Given the description of an element on the screen output the (x, y) to click on. 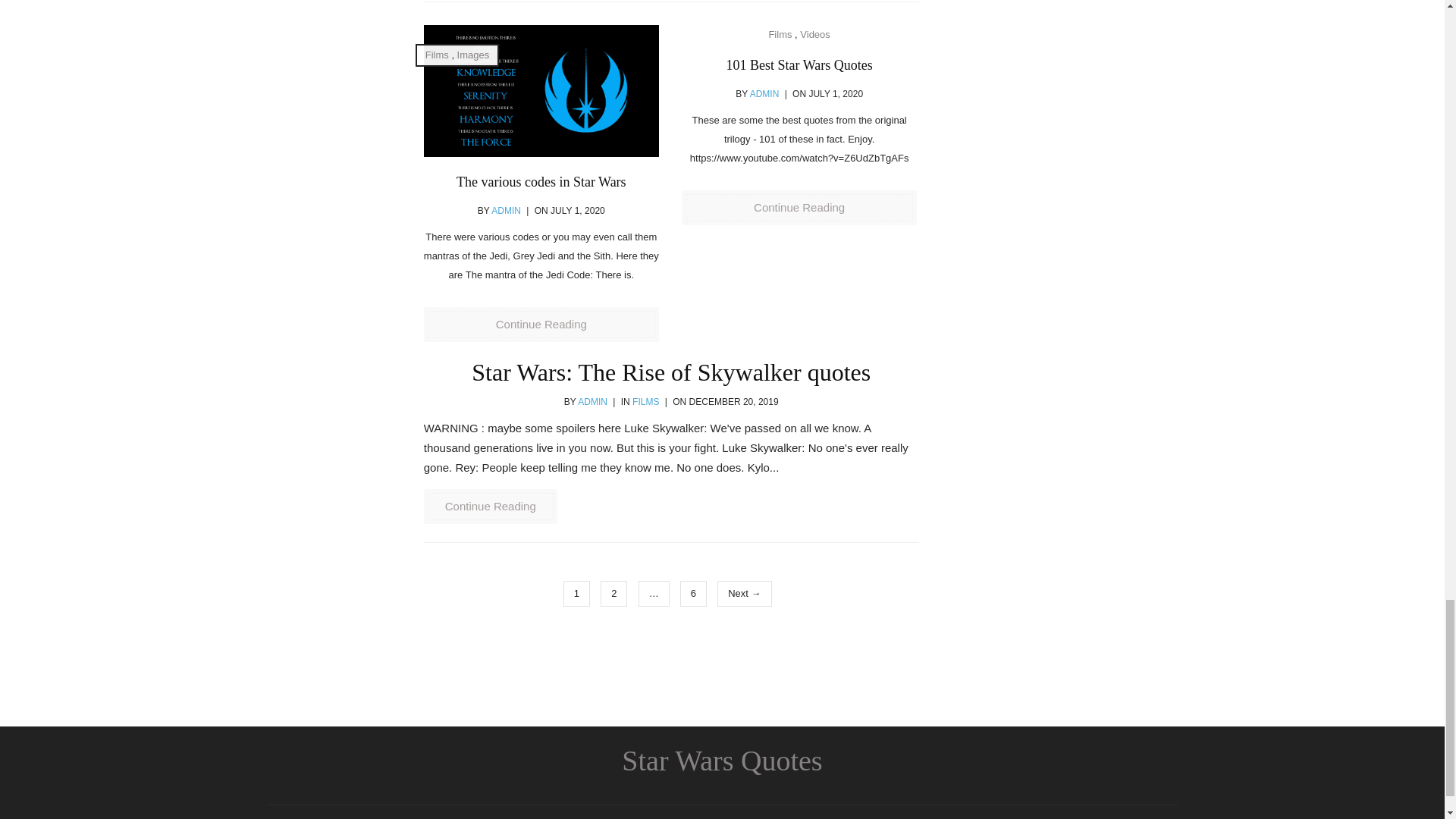
Films (436, 54)
The various codes in Star Wars (541, 181)
Images (473, 54)
